Given the description of an element on the screen output the (x, y) to click on. 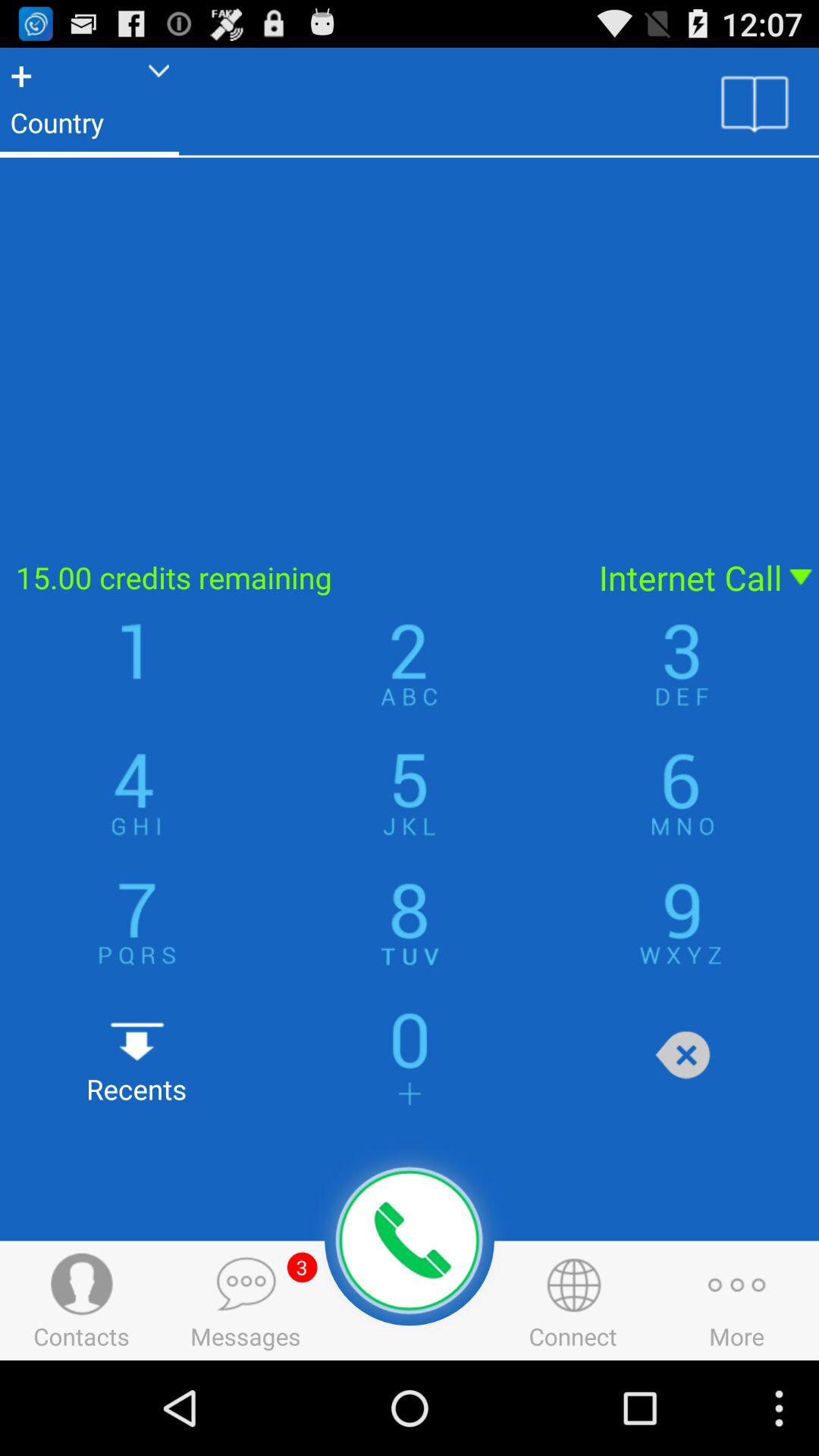
launch item next to internet call app (290, 577)
